Given the description of an element on the screen output the (x, y) to click on. 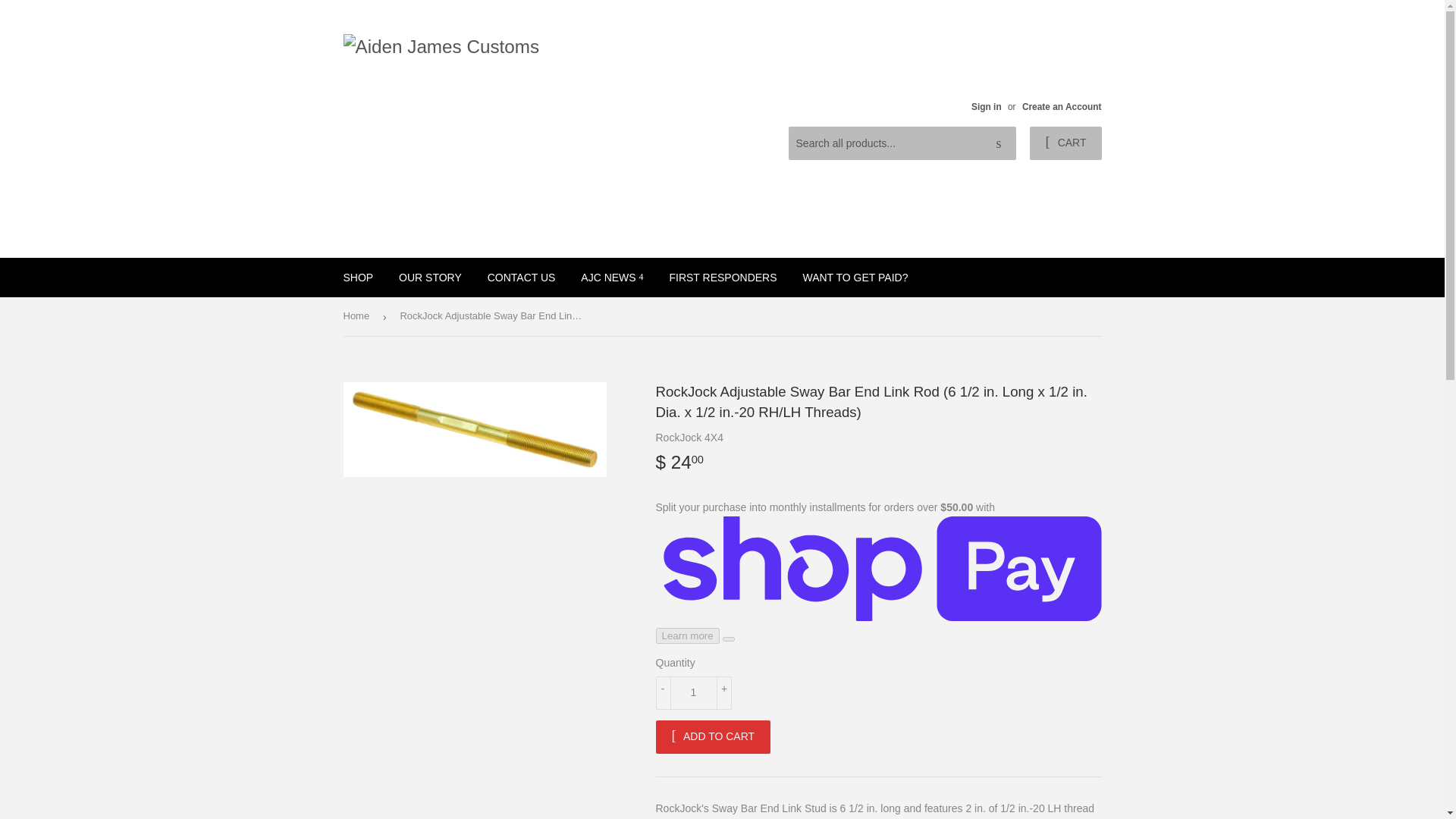
AJC NEWS (611, 277)
Sign in (986, 106)
Create an Account (1062, 106)
SHOP (358, 277)
OUR STORY (430, 277)
1 (692, 693)
ADD TO CART (712, 736)
Search (998, 143)
CART (1064, 142)
WANT TO GET PAID? (854, 277)
CONTACT US (521, 277)
FIRST RESPONDERS (722, 277)
